Given the description of an element on the screen output the (x, y) to click on. 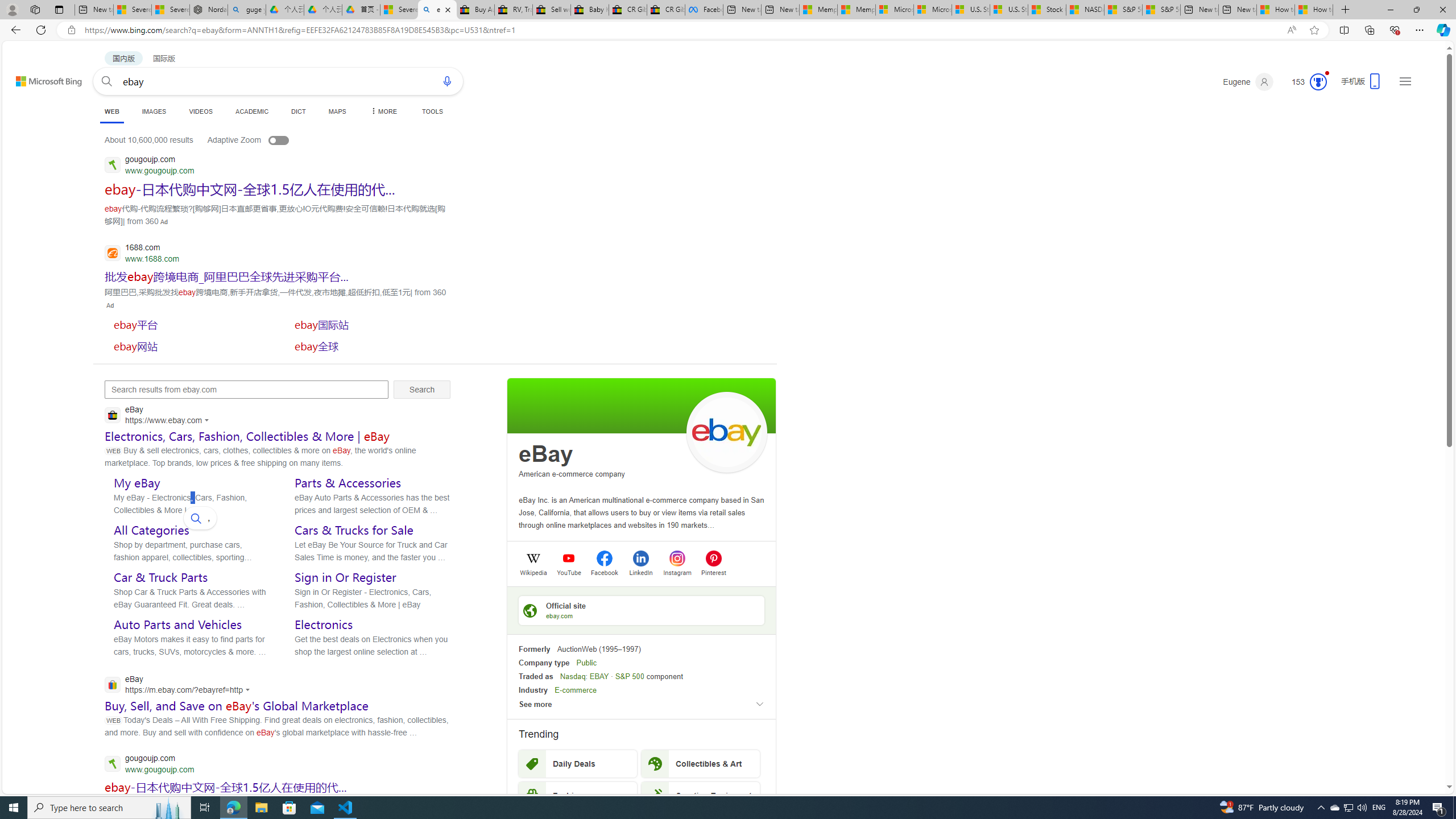
Official site ebay.com (641, 610)
YouTube (568, 571)
Auto Parts and Vehicles (177, 624)
Search using voice (446, 80)
Collectibles & Art (701, 763)
S&P 500 (629, 676)
Sporting Equipment (701, 795)
See more images of eBay (726, 432)
Collectibles & Art (701, 763)
